Given the description of an element on the screen output the (x, y) to click on. 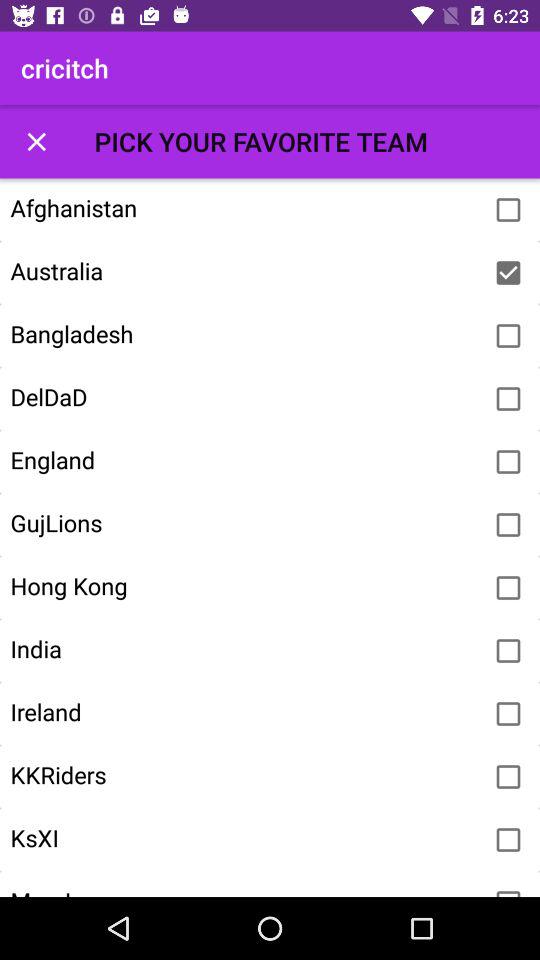
mark favorite team (508, 273)
